Given the description of an element on the screen output the (x, y) to click on. 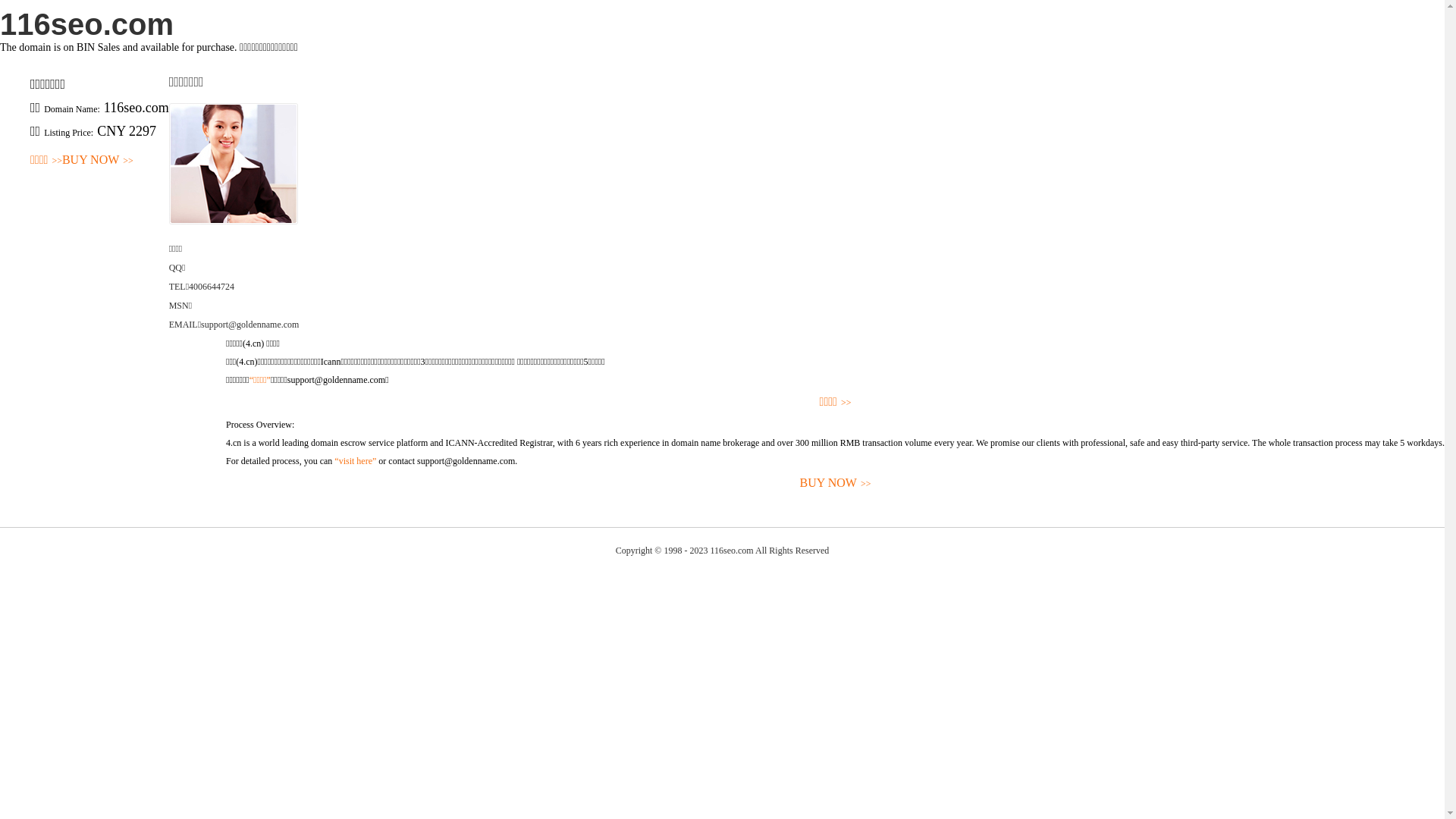
BUY NOW>> Element type: text (97, 160)
BUY NOW>> Element type: text (834, 483)
